Given the description of an element on the screen output the (x, y) to click on. 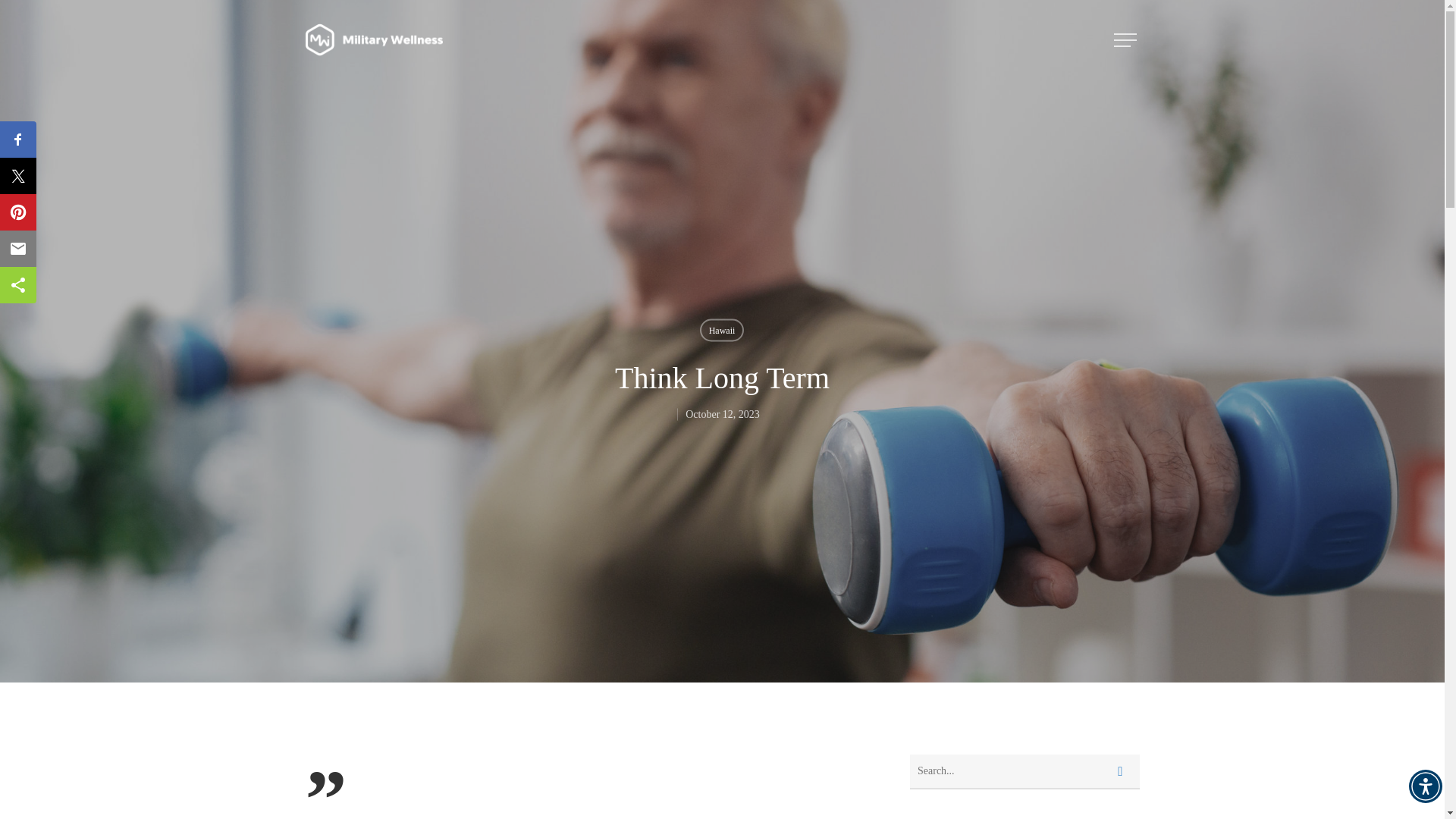
Accessibility Menu (1425, 786)
Hawaii (722, 329)
Search for: (1025, 771)
